Given the description of an element on the screen output the (x, y) to click on. 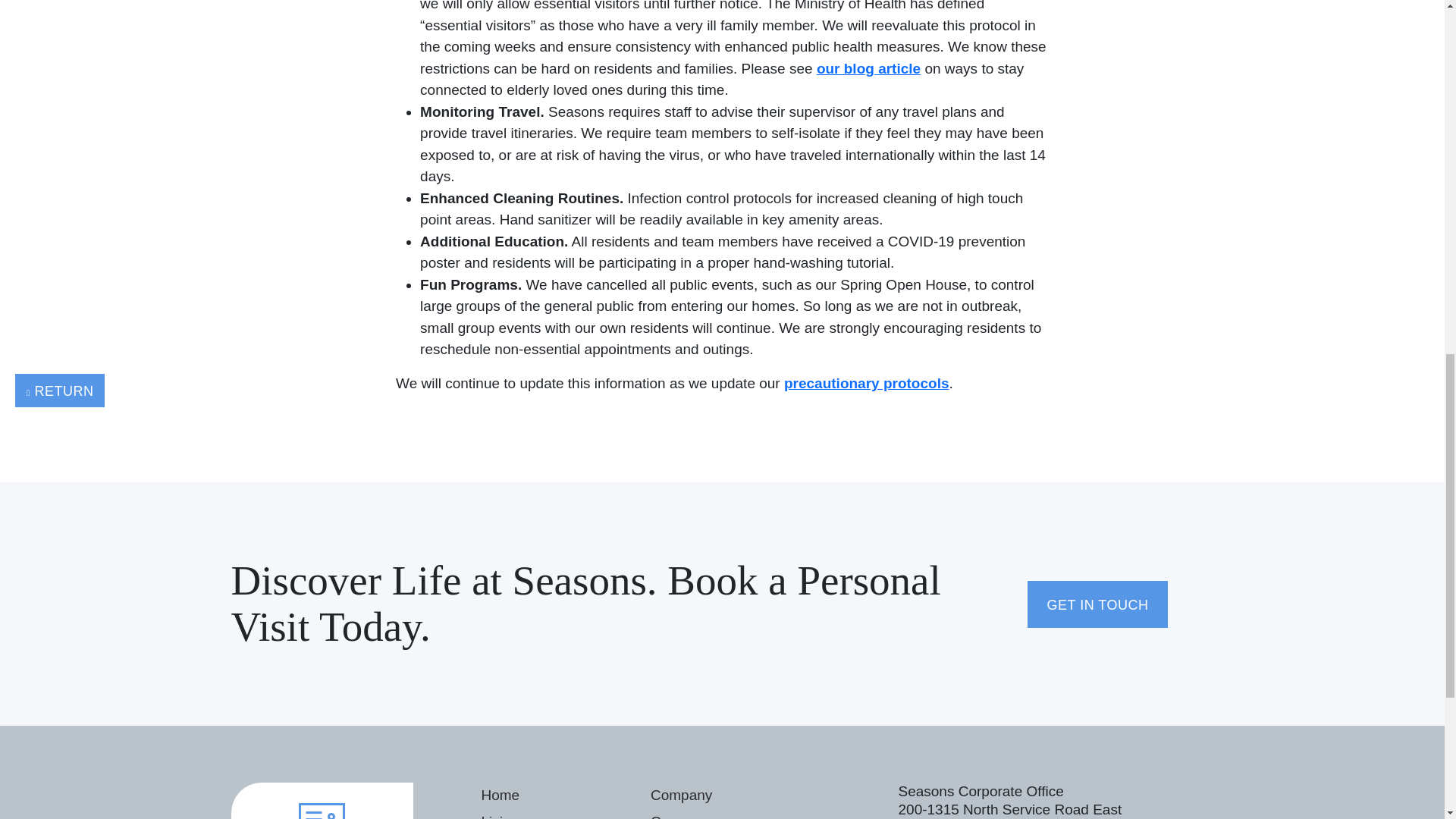
our blog article (868, 68)
GET IN TOUCH (1097, 604)
precautionary protocols (866, 383)
